Given the description of an element on the screen output the (x, y) to click on. 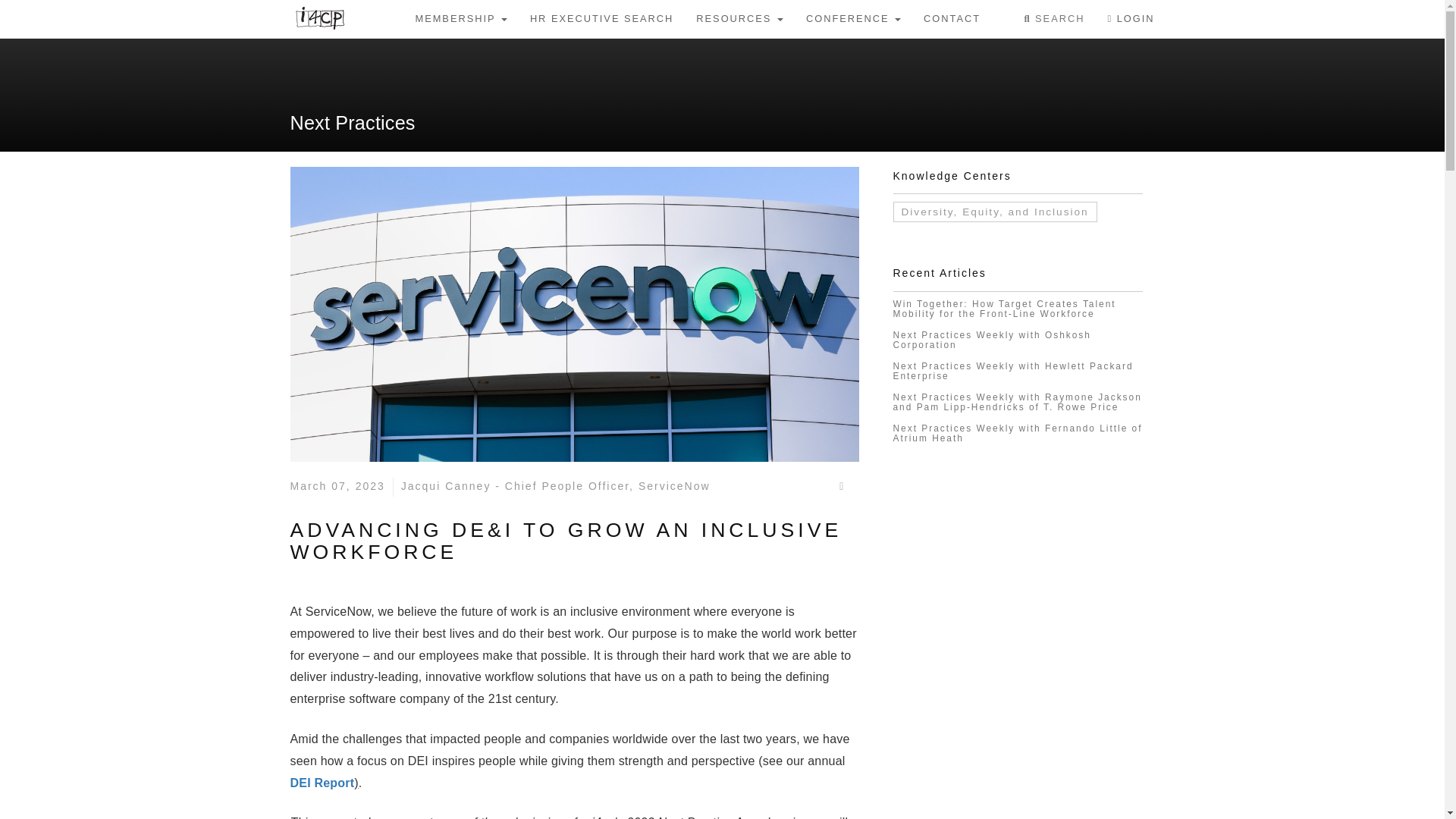
MEMBERSHIP (460, 18)
SEARCH (1053, 18)
CONFERENCE (853, 18)
LOGIN (1131, 18)
Next Practices (351, 122)
CONTACT (951, 18)
RESOURCES (739, 18)
HR EXECUTIVE SEARCH (601, 18)
